Given the description of an element on the screen output the (x, y) to click on. 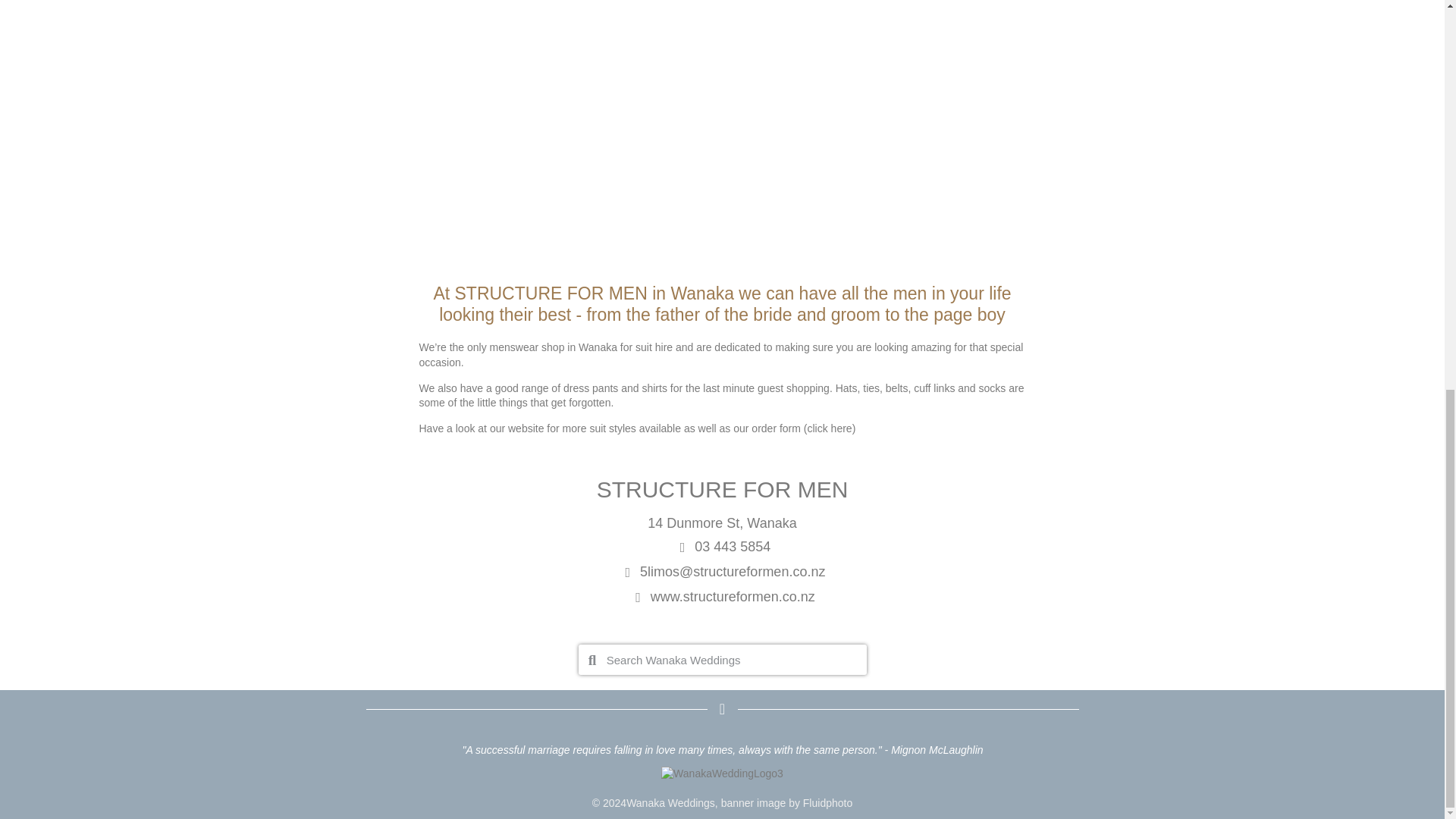
03 443 5854 (722, 546)
WanakaWeddingLogo3 (722, 774)
www.structureformen.co.nz (722, 597)
Search (730, 659)
